Given the description of an element on the screen output the (x, y) to click on. 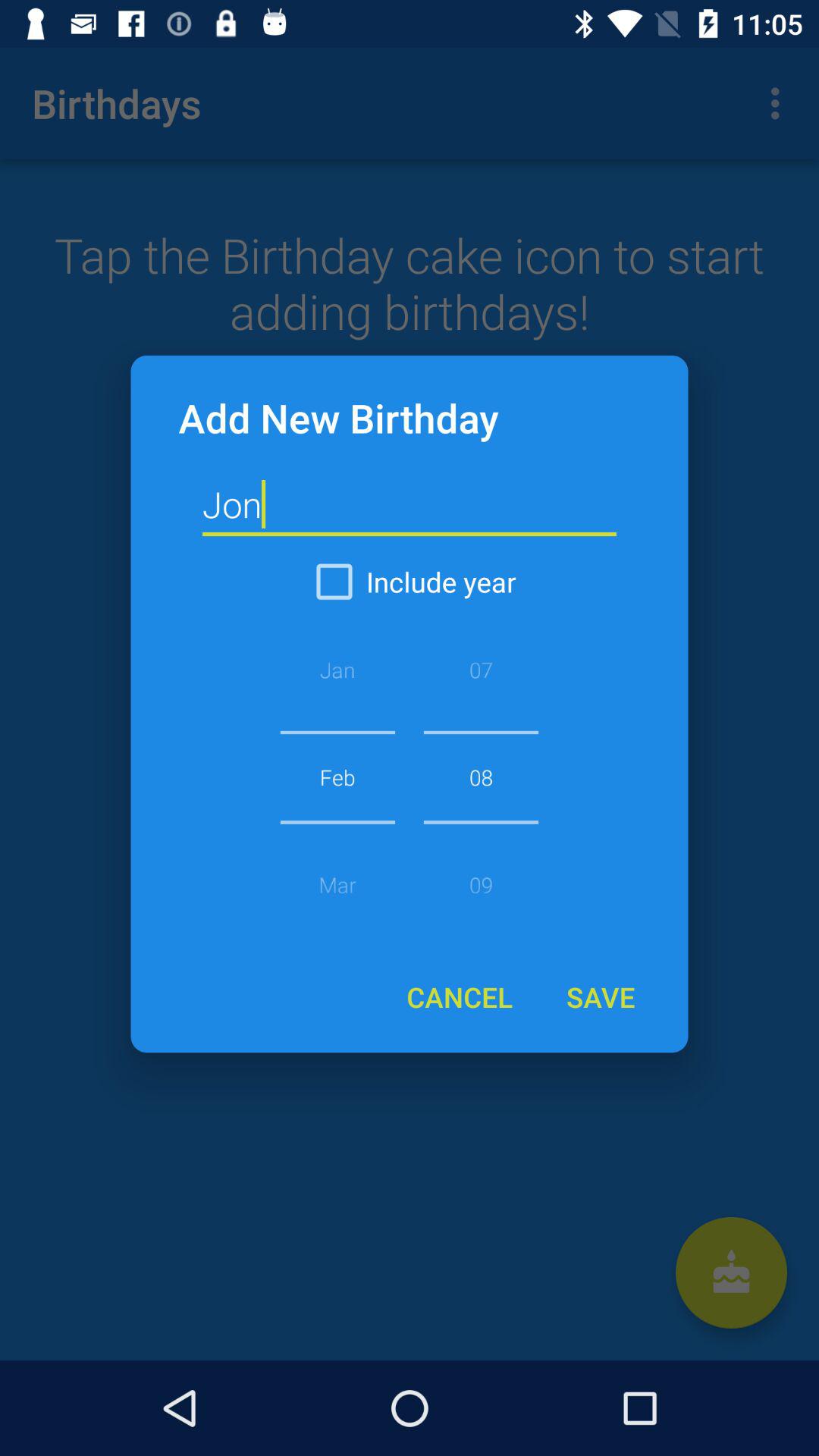
select the item next to save item (459, 996)
